Given the description of an element on the screen output the (x, y) to click on. 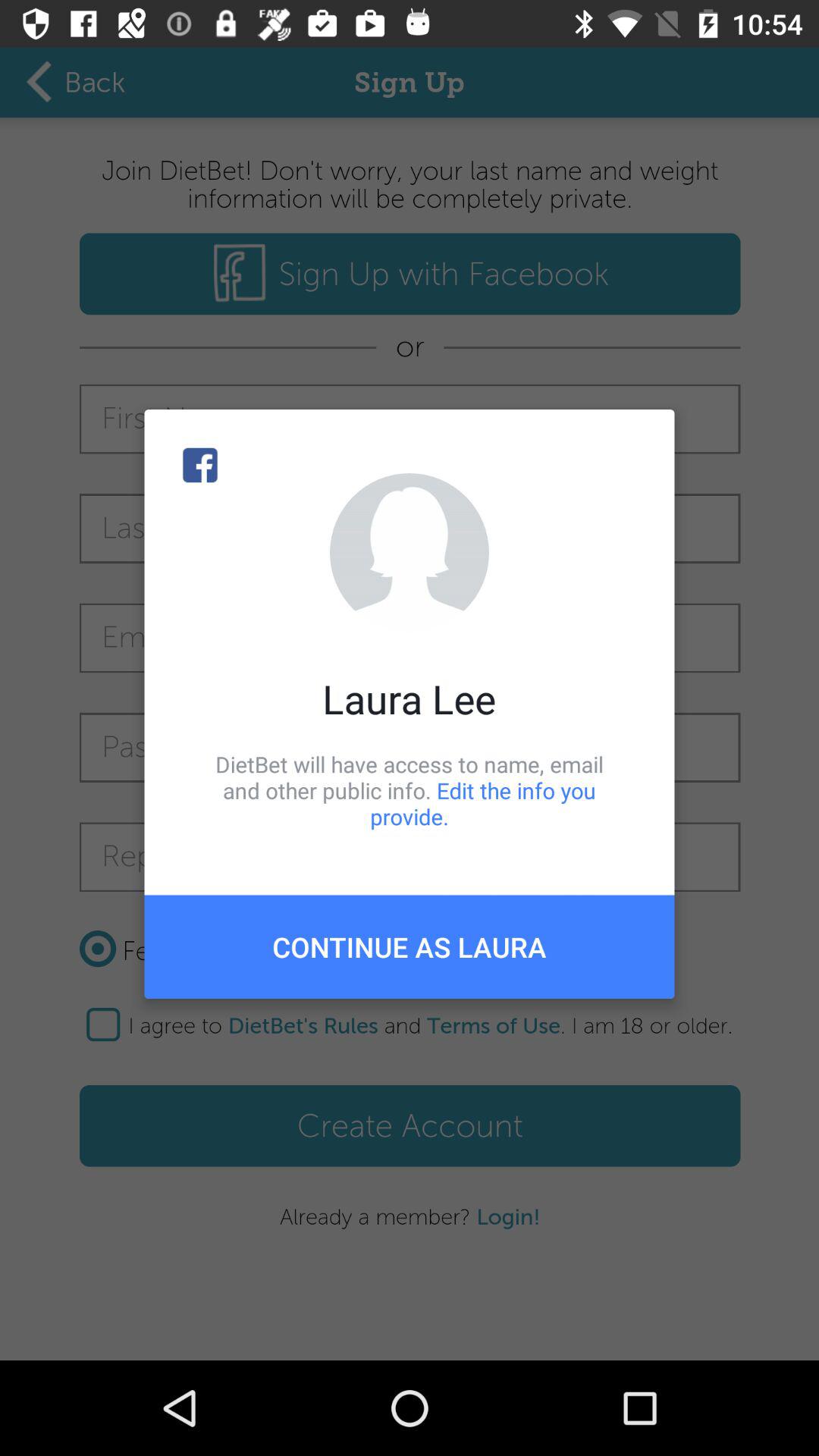
jump to the dietbet will have (409, 790)
